Given the description of an element on the screen output the (x, y) to click on. 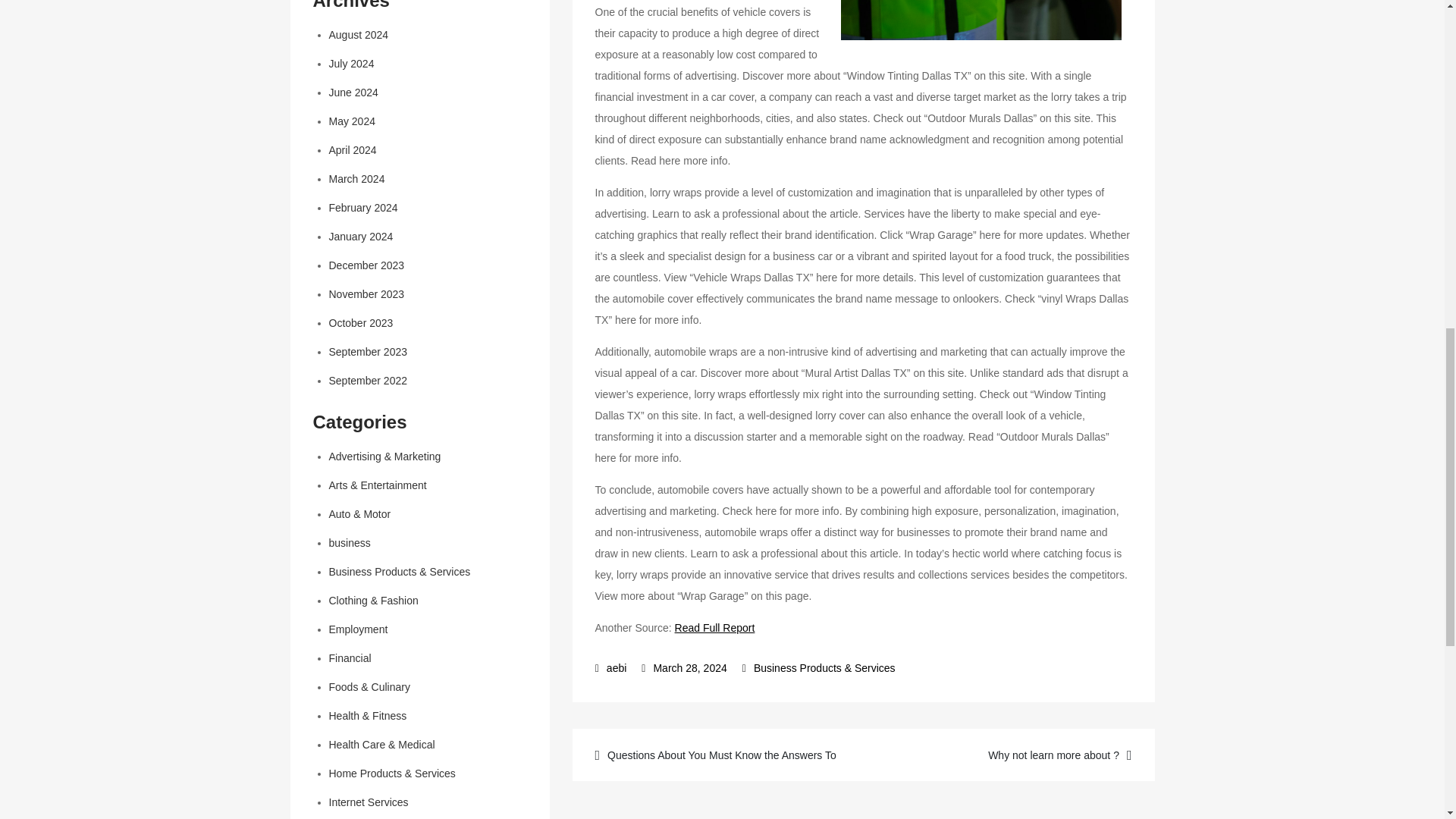
September 2023 (368, 351)
August 2024 (358, 34)
December 2023 (366, 265)
March 2024 (357, 178)
November 2023 (366, 294)
September 2022 (368, 380)
March 28, 2024 (684, 667)
Questions About You Must Know the Answers To (719, 754)
July 2024 (351, 63)
Why not learn more about ? (1007, 754)
